Given the description of an element on the screen output the (x, y) to click on. 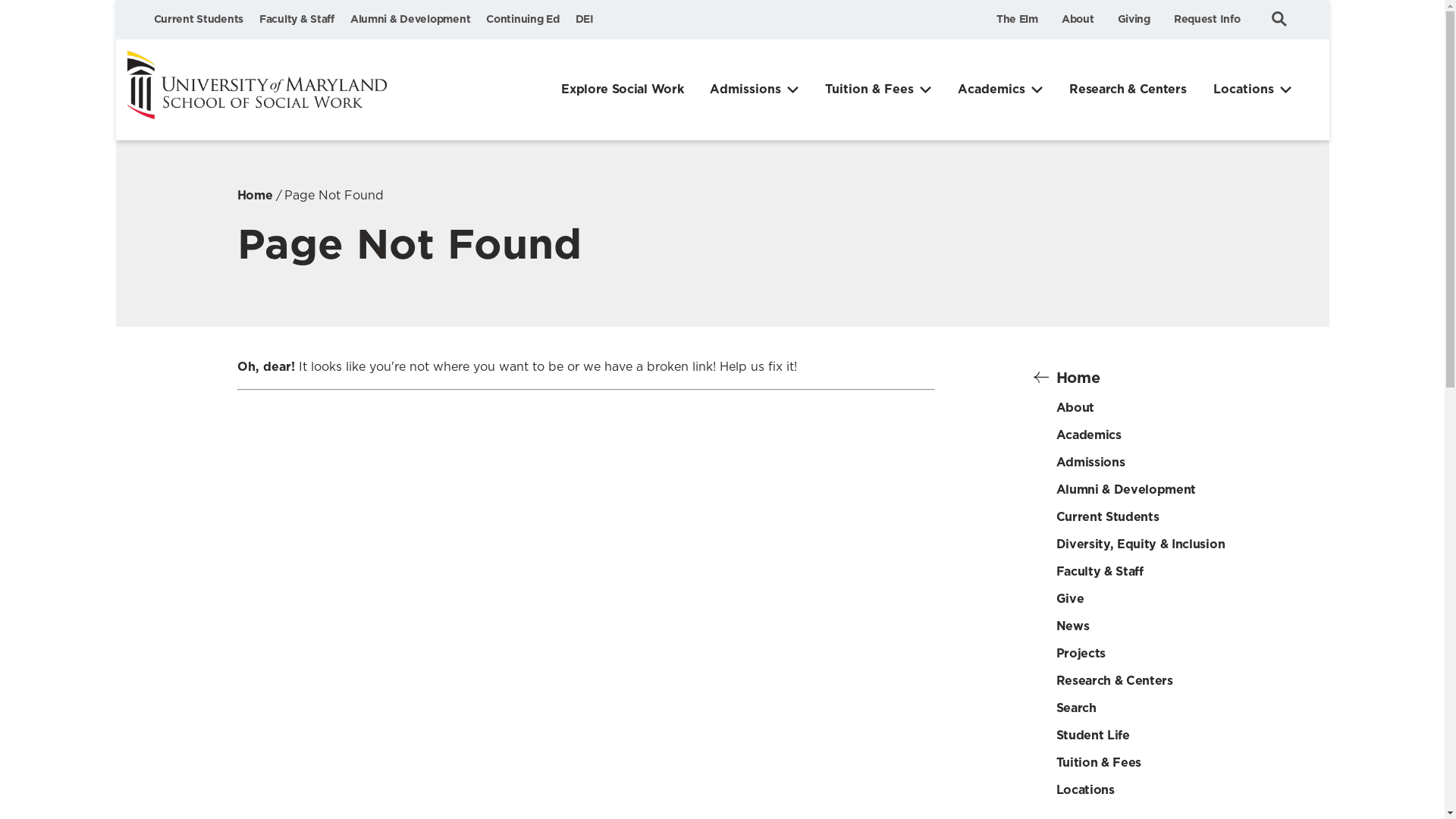
Search (1278, 18)
Continuing Ed (522, 19)
The Elm (1016, 19)
Locations (1251, 89)
DEI (584, 19)
Current Students (197, 19)
Academics (1000, 89)
Giving (1134, 19)
Explore Social Work (621, 89)
About (1077, 19)
